Given the description of an element on the screen output the (x, y) to click on. 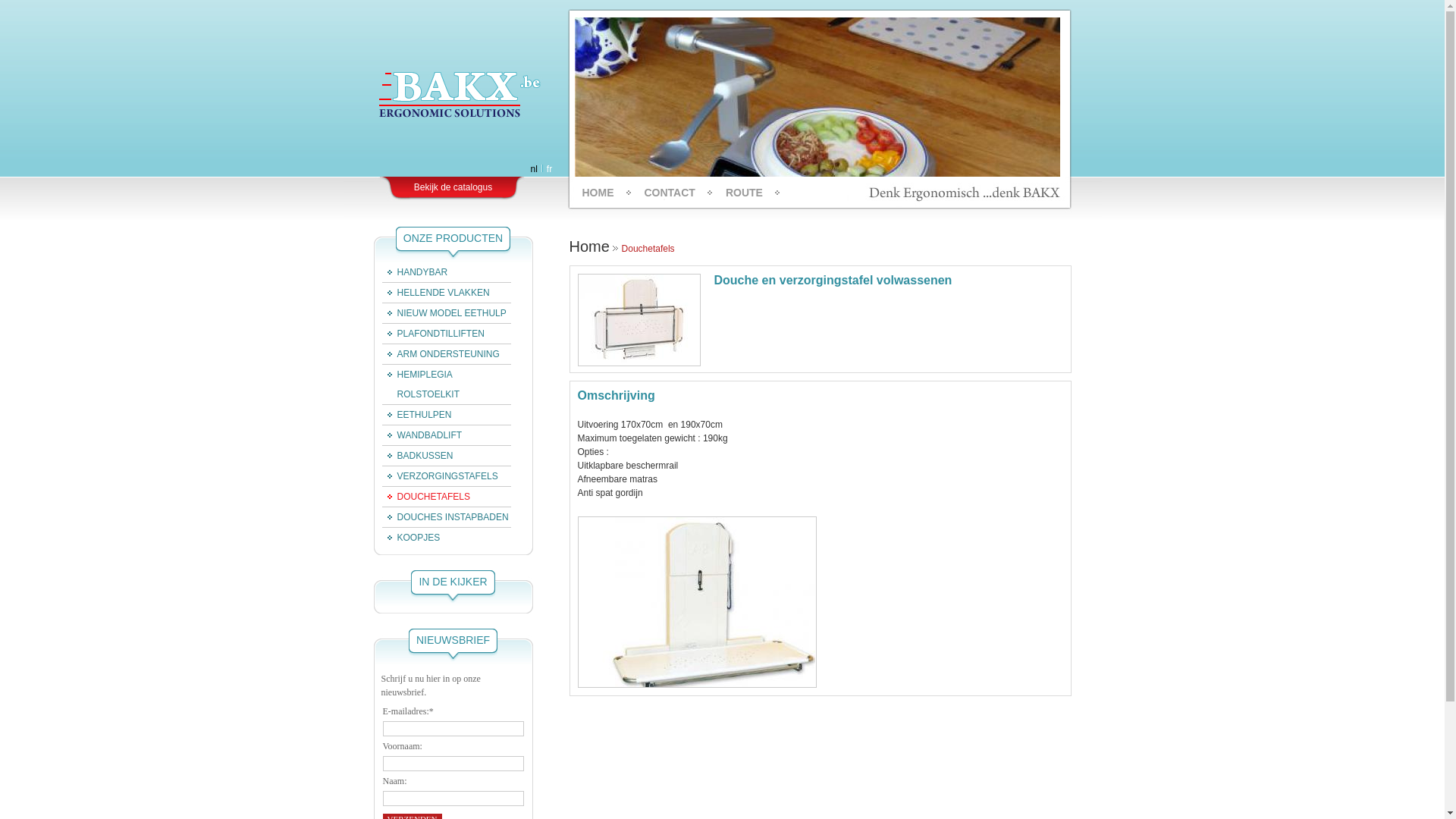
ROUTE Element type: text (743, 192)
NIEUW MODEL EETHULP Element type: text (444, 313)
PLAFONDTILLIFTEN Element type: text (433, 333)
Bekijk de catalogus Element type: text (453, 187)
HOME Element type: text (598, 192)
HELLENDE VLAKKEN Element type: text (435, 292)
CONTACT Element type: text (669, 192)
HANDYBAR Element type: text (415, 272)
WANDBADLIFT Element type: text (422, 435)
HEMIPLEGIA ROLSTOELKIT Element type: text (446, 384)
KOOPJES Element type: text (411, 537)
ARM ONDERSTEUNING Element type: text (440, 354)
nl Element type: text (533, 168)
EETHULPEN Element type: text (416, 414)
BADKUSSEN Element type: text (417, 455)
Douchetafels Element type: text (647, 248)
VERZORGINGSTAFELS Element type: text (440, 476)
fr Element type: text (549, 168)
DOUCHETAFELS Element type: text (426, 496)
DOUCHES INSTAPBADEN Element type: text (445, 517)
